Given the description of an element on the screen output the (x, y) to click on. 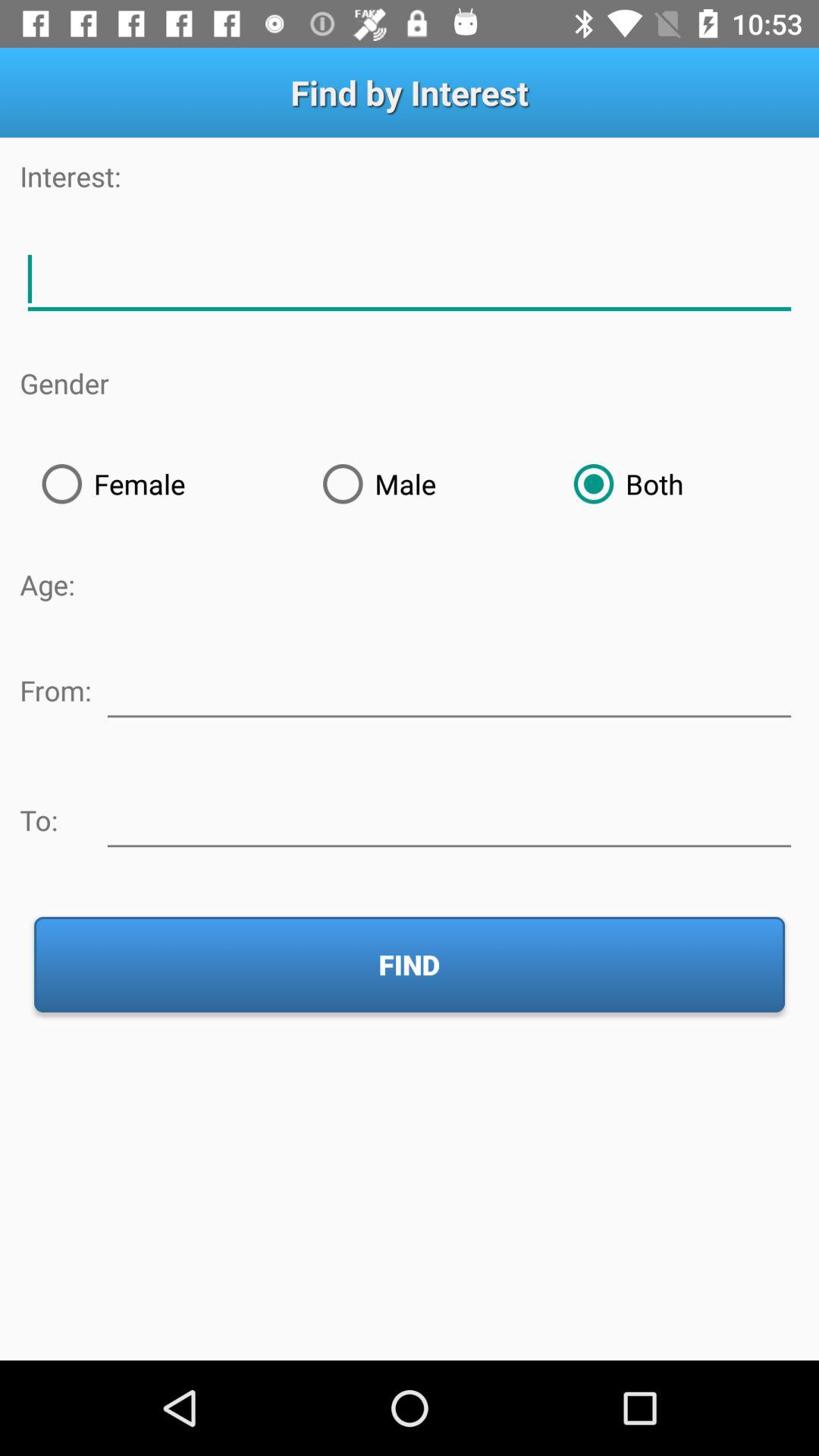
swipe to male item (426, 483)
